Given the description of an element on the screen output the (x, y) to click on. 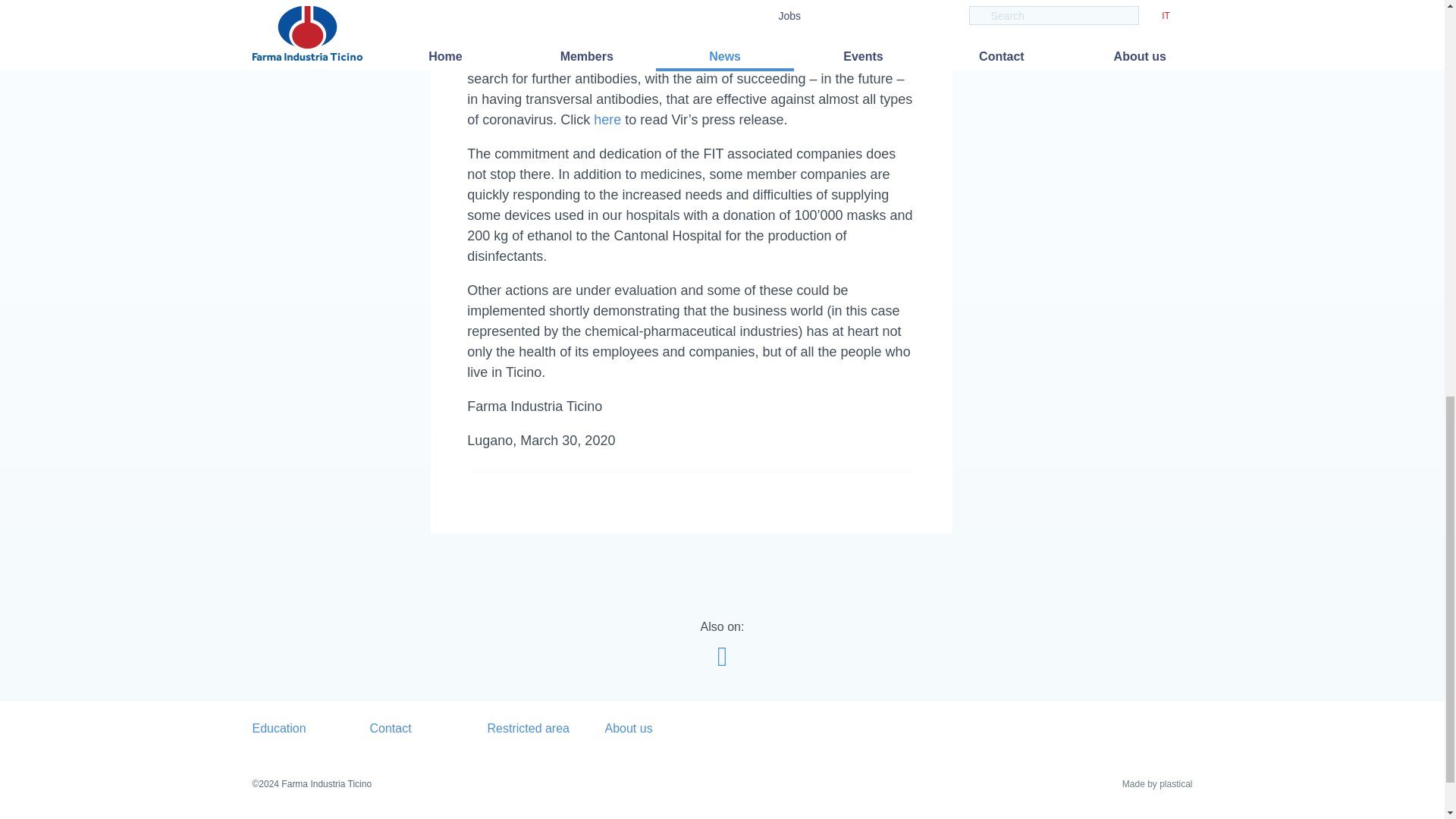
Contact (428, 728)
LinkedIn (722, 655)
Restricted area (545, 728)
here (607, 119)
Education (310, 728)
